Given the description of an element on the screen output the (x, y) to click on. 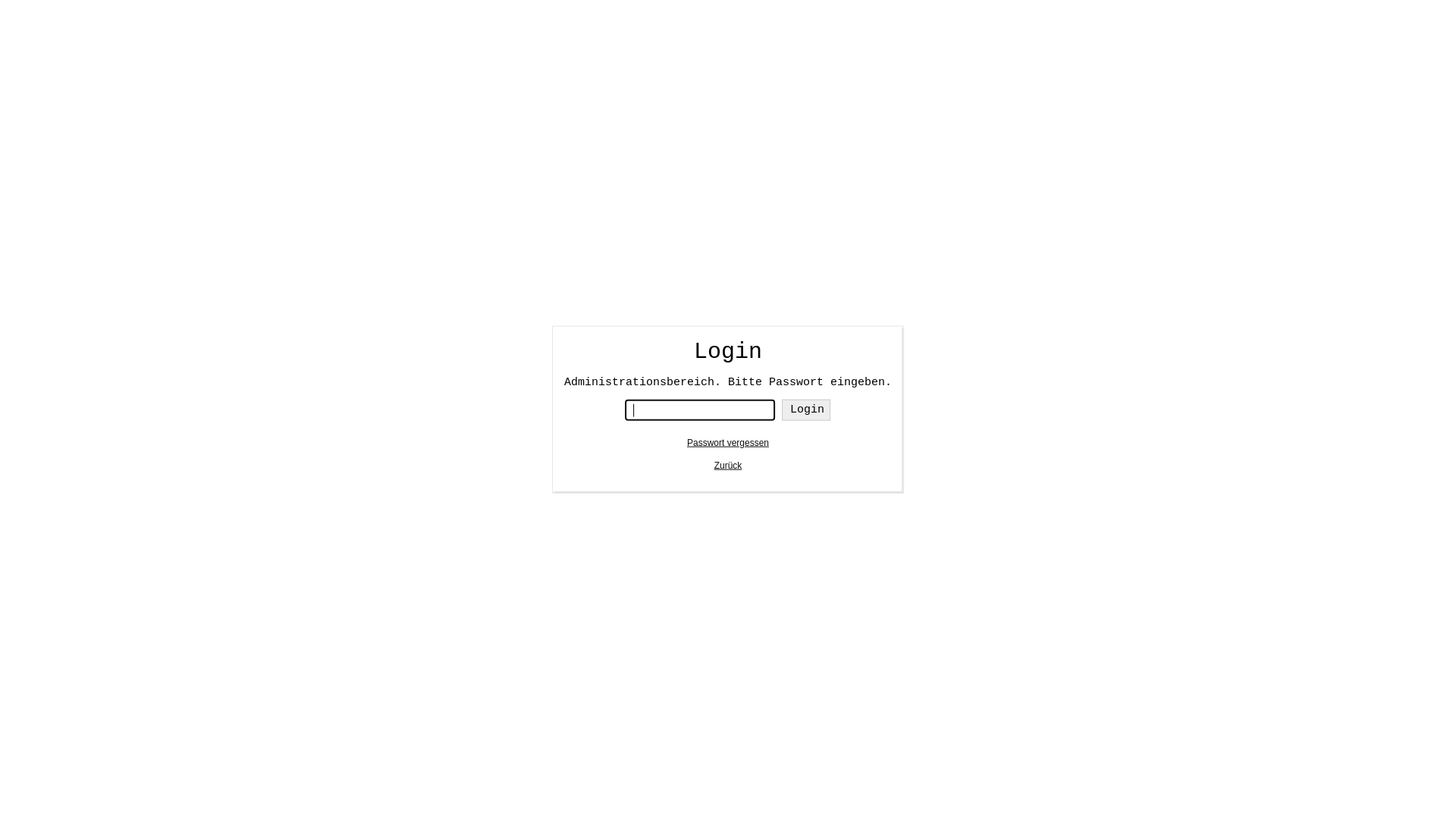
Login Element type: text (805, 409)
Passwort vergessen Element type: text (727, 441)
